Given the description of an element on the screen output the (x, y) to click on. 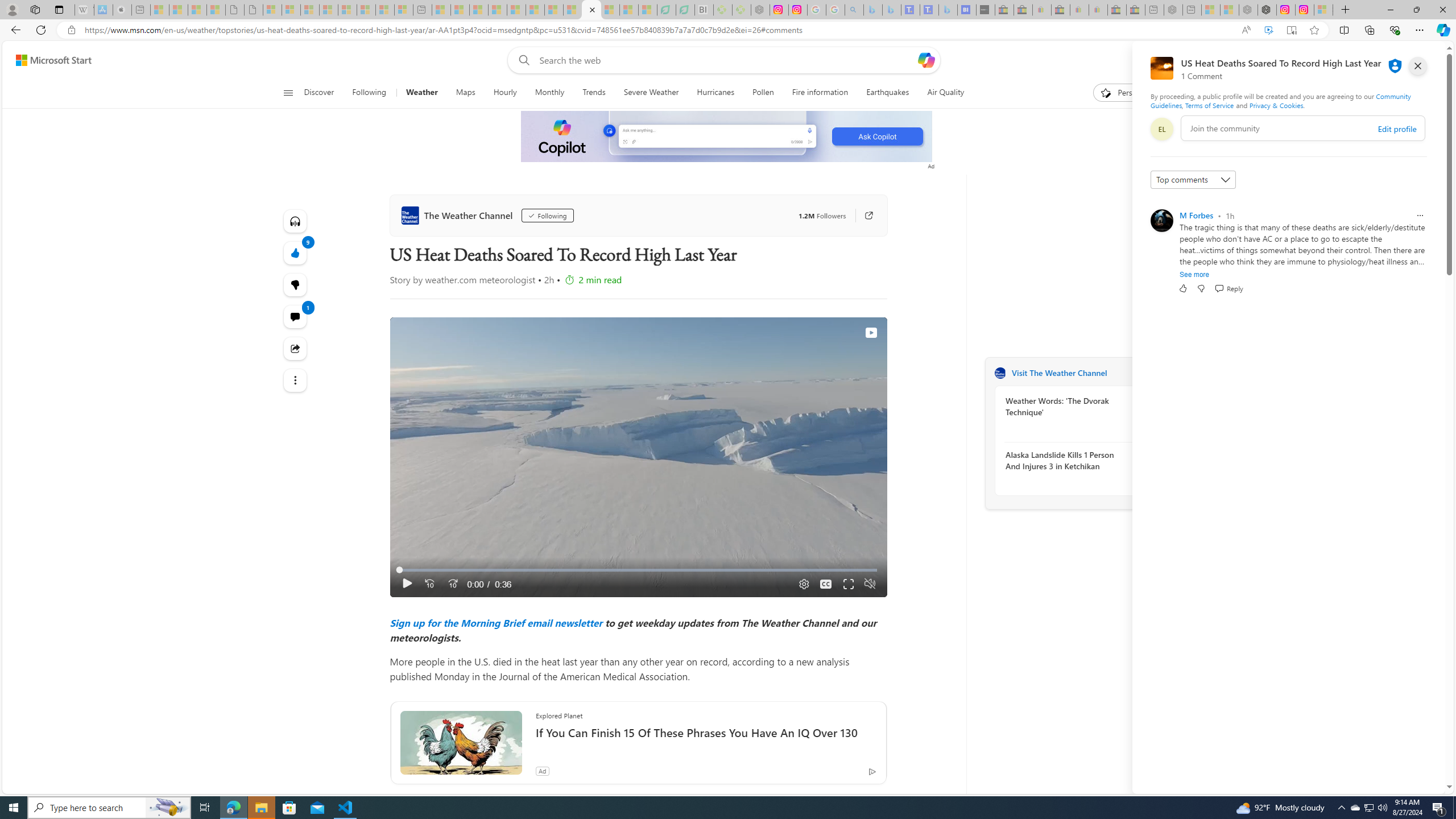
Alaska Landslide Kills 1 Person And Injures 3 in Ketchikan (1066, 459)
Safety in Our Products - Google Safety Center - Sleeping (816, 9)
Fire information (820, 92)
Profile Picture (1161, 220)
Seek Back (429, 583)
US Heat Deaths Soared To Record High Last Year (590, 9)
Shangri-La Bangkok, Hotel reviews and Room rates - Sleeping (929, 9)
Hurricanes (716, 92)
Severe Weather (651, 92)
Weather Words: 'The Dvorak Technique' (1066, 406)
